Given the description of an element on the screen output the (x, y) to click on. 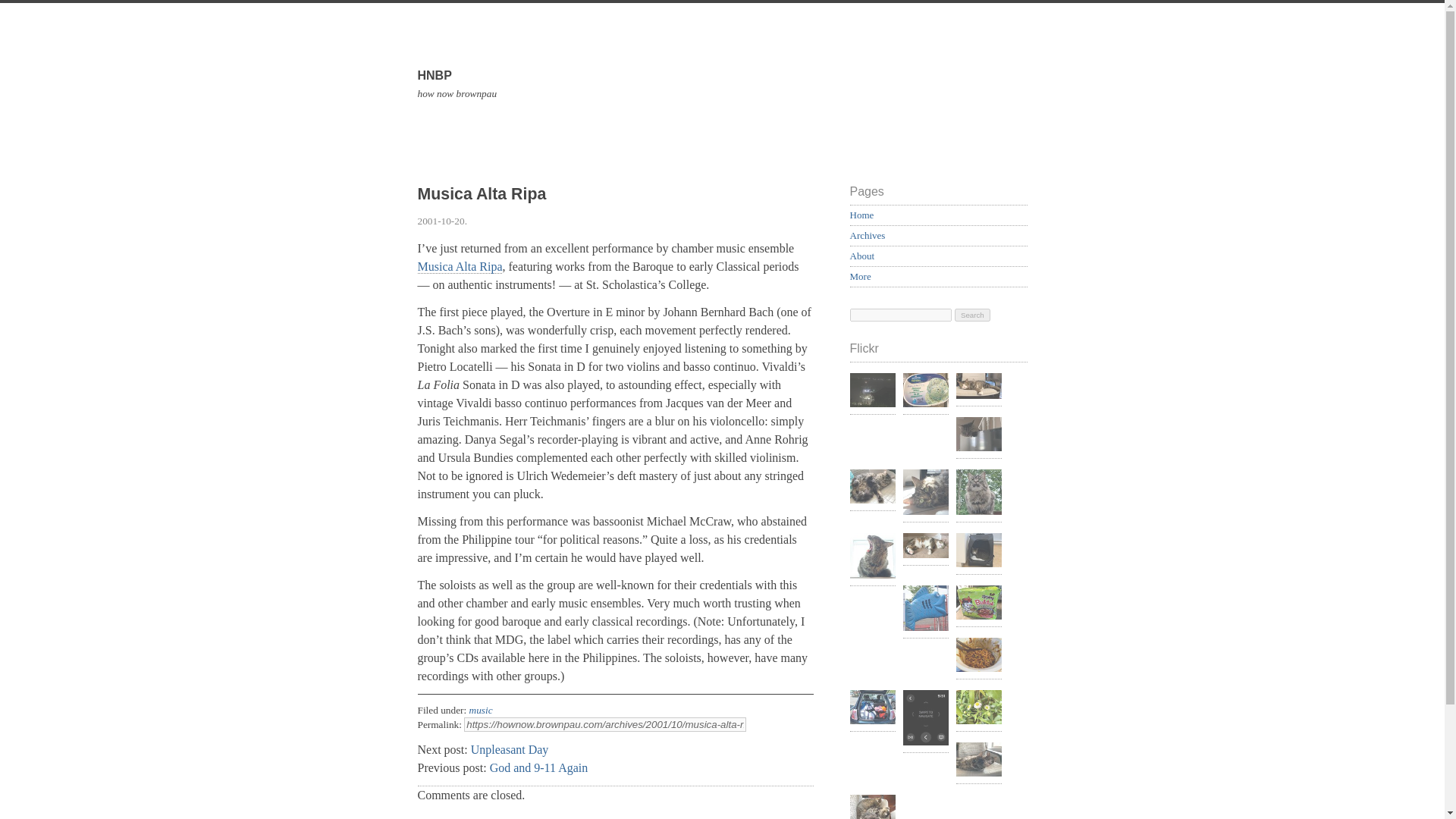
Fleabane flowers (978, 709)
Fish Bridge at Cole Harbour Place playground (924, 609)
Archives (866, 235)
Home (860, 214)
Halifax Ferry docked at Woodside (871, 392)
Jjajang Buldak (978, 656)
Search (972, 314)
Unpleasant Day (509, 748)
About (861, 255)
More (859, 276)
